Given the description of an element on the screen output the (x, y) to click on. 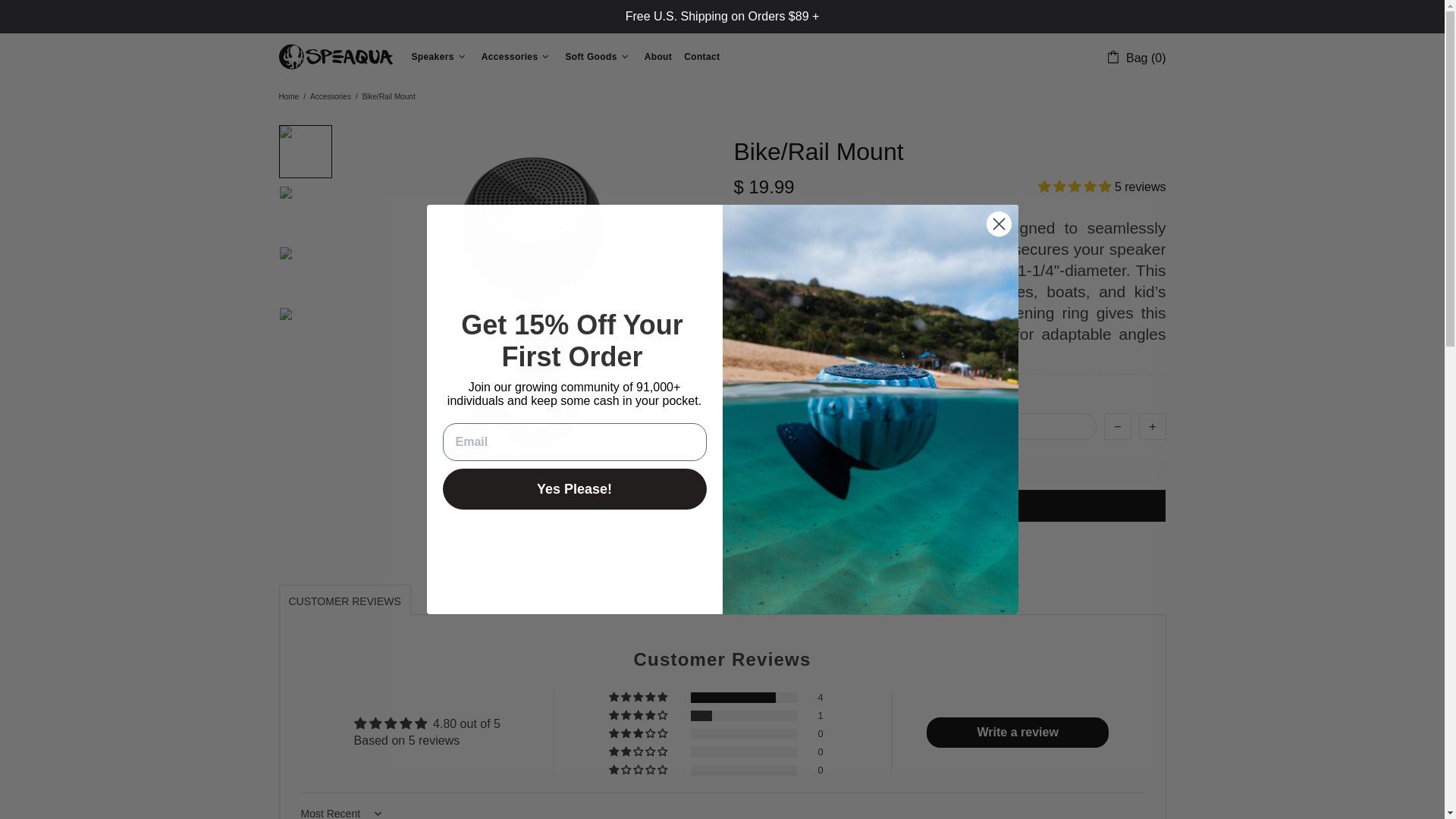
Speakers (439, 56)
SUBSCRIBE (1099, 652)
Soft Goods (598, 56)
1 (914, 426)
Accessories (517, 56)
Speaqua (336, 56)
